Given the description of an element on the screen output the (x, y) to click on. 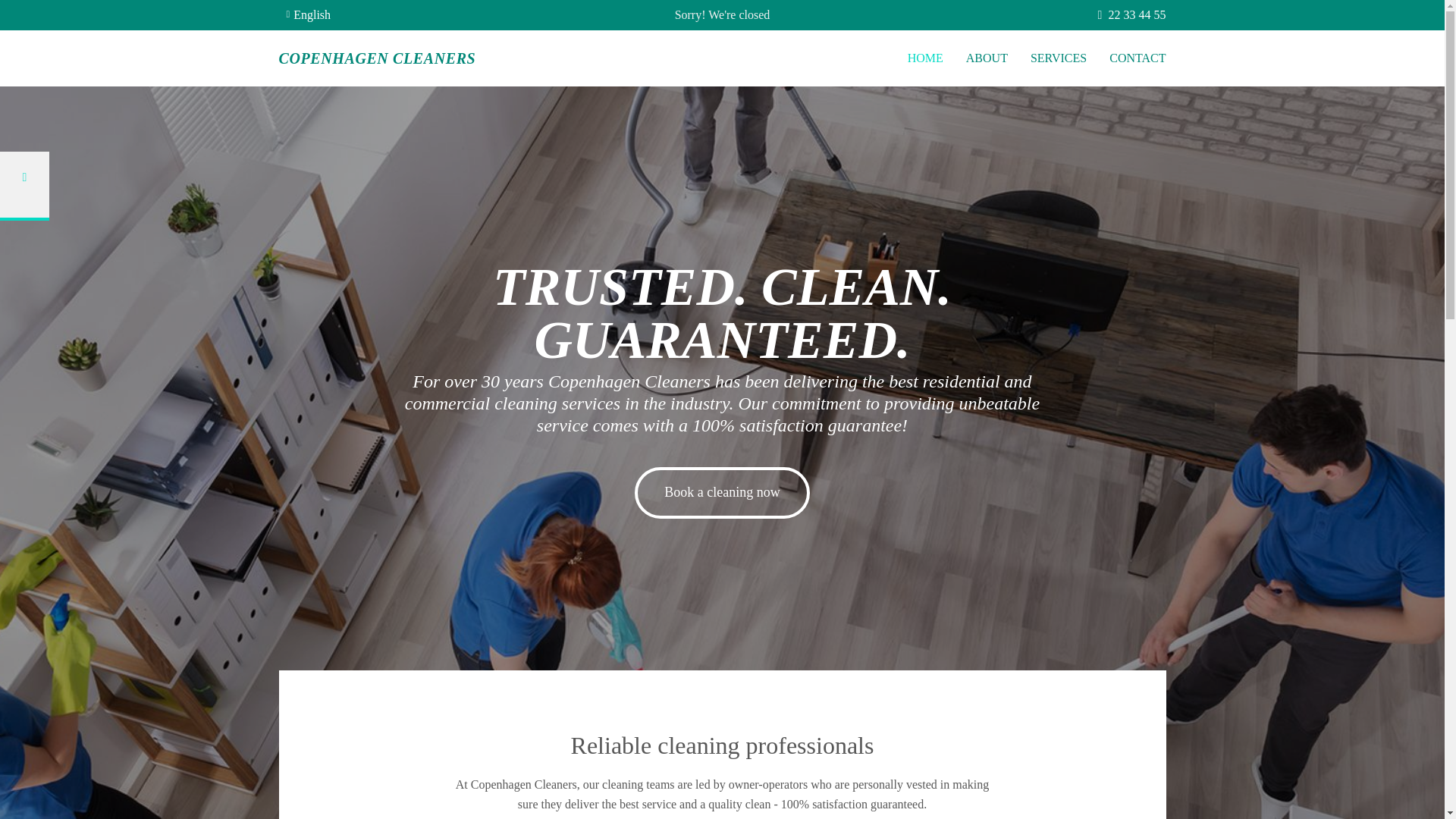
SERVICES (1058, 58)
Book a cleaning now (721, 492)
COPENHAGEN CLEANERS (377, 57)
ABOUT (986, 58)
HOME (925, 58)
CONTACT (1137, 58)
